Given the description of an element on the screen output the (x, y) to click on. 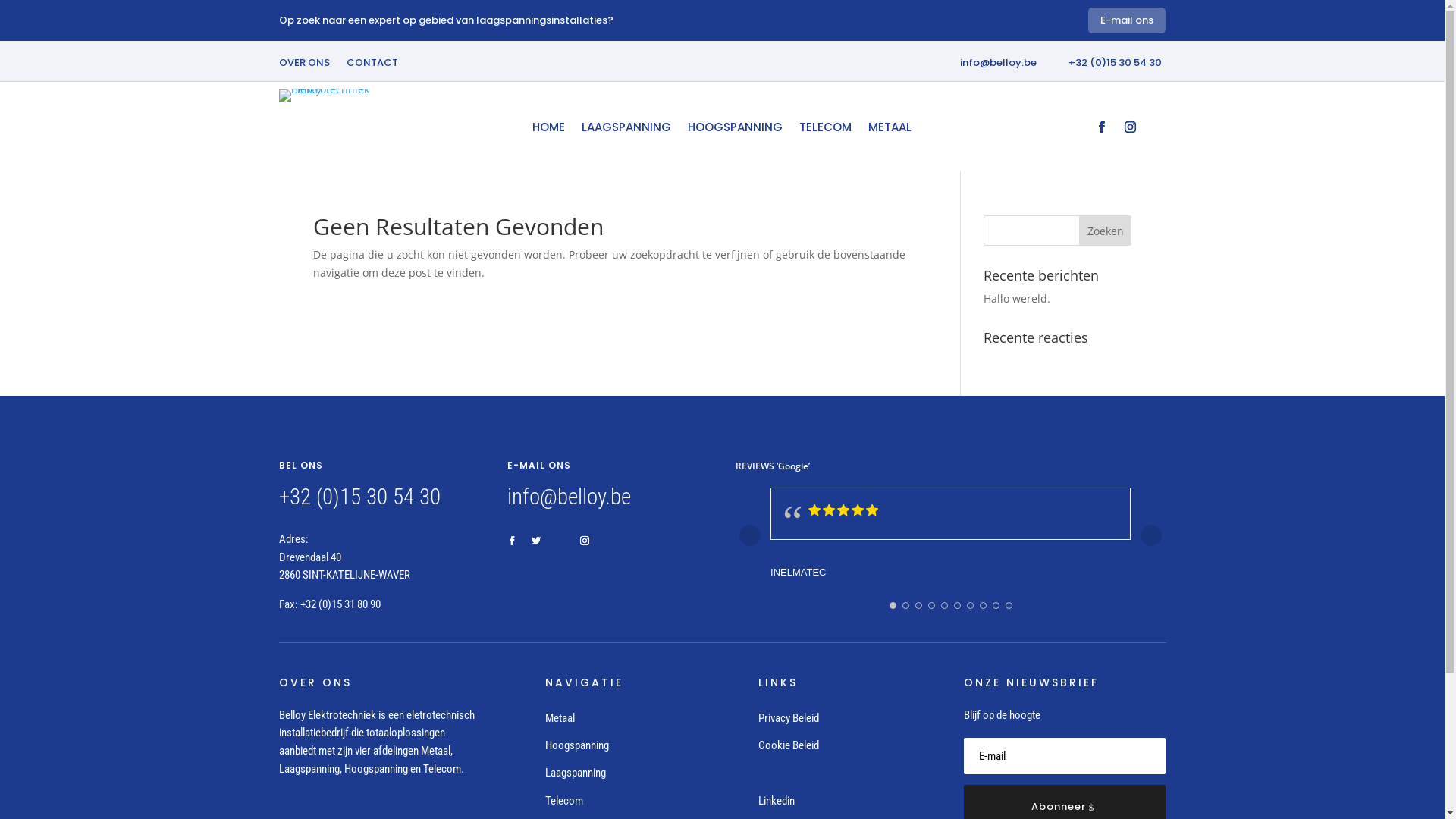
Prev Element type: text (749, 535)
Belloy Elektrotechniek Element type: hover (339, 95)
Hallo wereld. Element type: text (1016, 298)
Volg op Instagram Element type: hover (1129, 127)
Volg op Instagram Element type: hover (584, 540)
METAAL Element type: text (889, 130)
CONTACT Element type: text (371, 65)
Metaal Element type: text (559, 717)
Telecom Element type: text (564, 800)
Next Element type: text (1150, 535)
Volg op Twitter Element type: hover (536, 540)
Laagspanning Element type: text (575, 772)
TELECOM Element type: text (825, 130)
HOOGSPANNING Element type: text (734, 130)
HOME Element type: text (548, 130)
Privacy Beleid Element type: text (788, 717)
Cookie Beleid Element type: text (788, 745)
Hoogspanning Element type: text (576, 745)
OVER ONS Element type: text (304, 65)
Linkedin Element type: text (776, 800)
Volg op Facebook Element type: hover (1100, 127)
Zoeken Element type: text (1105, 230)
Volg op LinkedIn Element type: hover (1158, 127)
LAAGSPANNING Element type: text (626, 130)
Volg op Vimeo Element type: hover (560, 540)
E-mail ons Element type: text (1126, 20)
Volg op Facebook Element type: hover (511, 540)
